Given the description of an element on the screen output the (x, y) to click on. 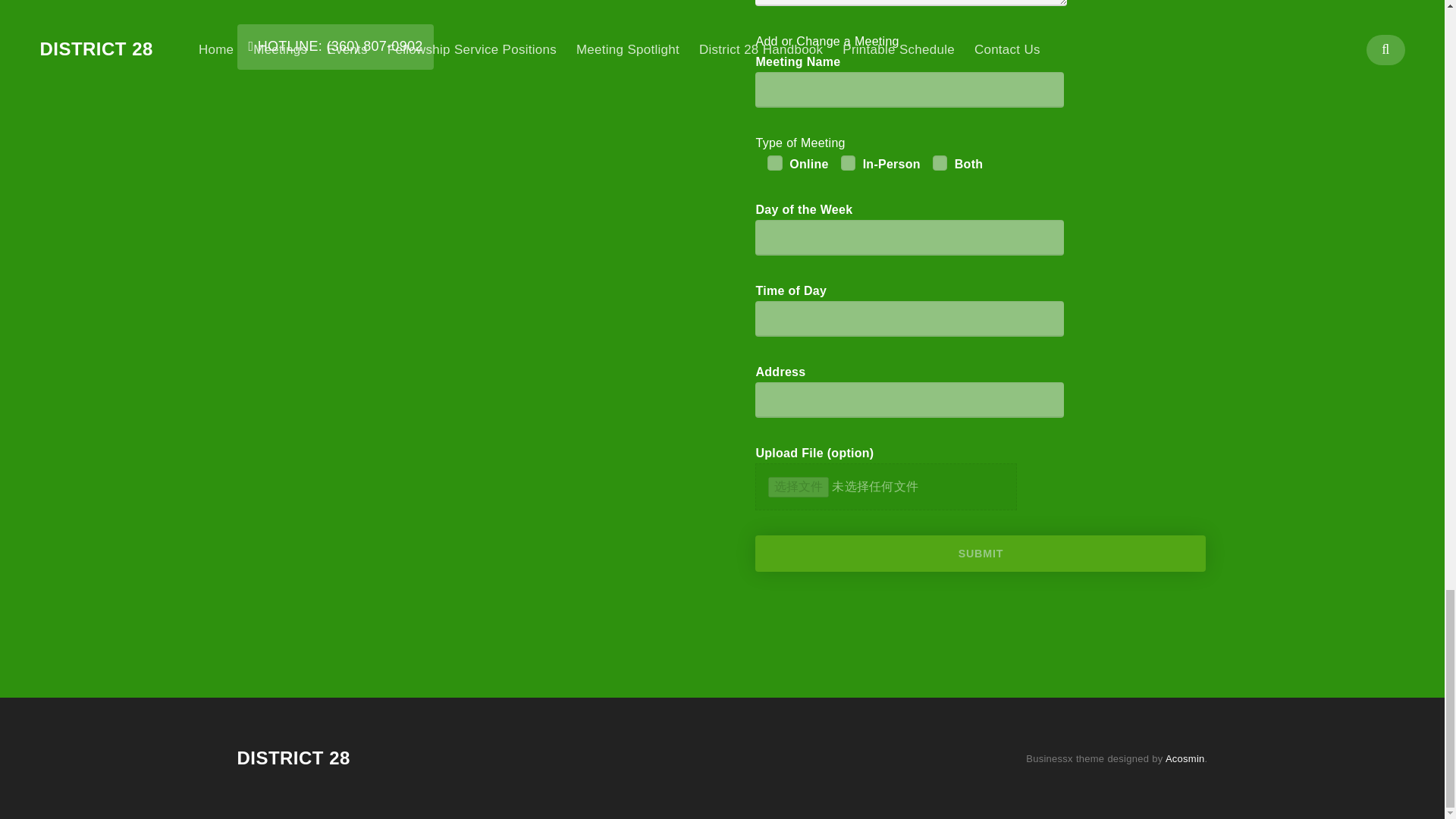
Submit (980, 553)
Both (940, 162)
Submit (980, 553)
DISTRICT 28 (292, 757)
In-Person (848, 162)
Acosmin (1185, 758)
Online (775, 162)
